Given the description of an element on the screen output the (x, y) to click on. 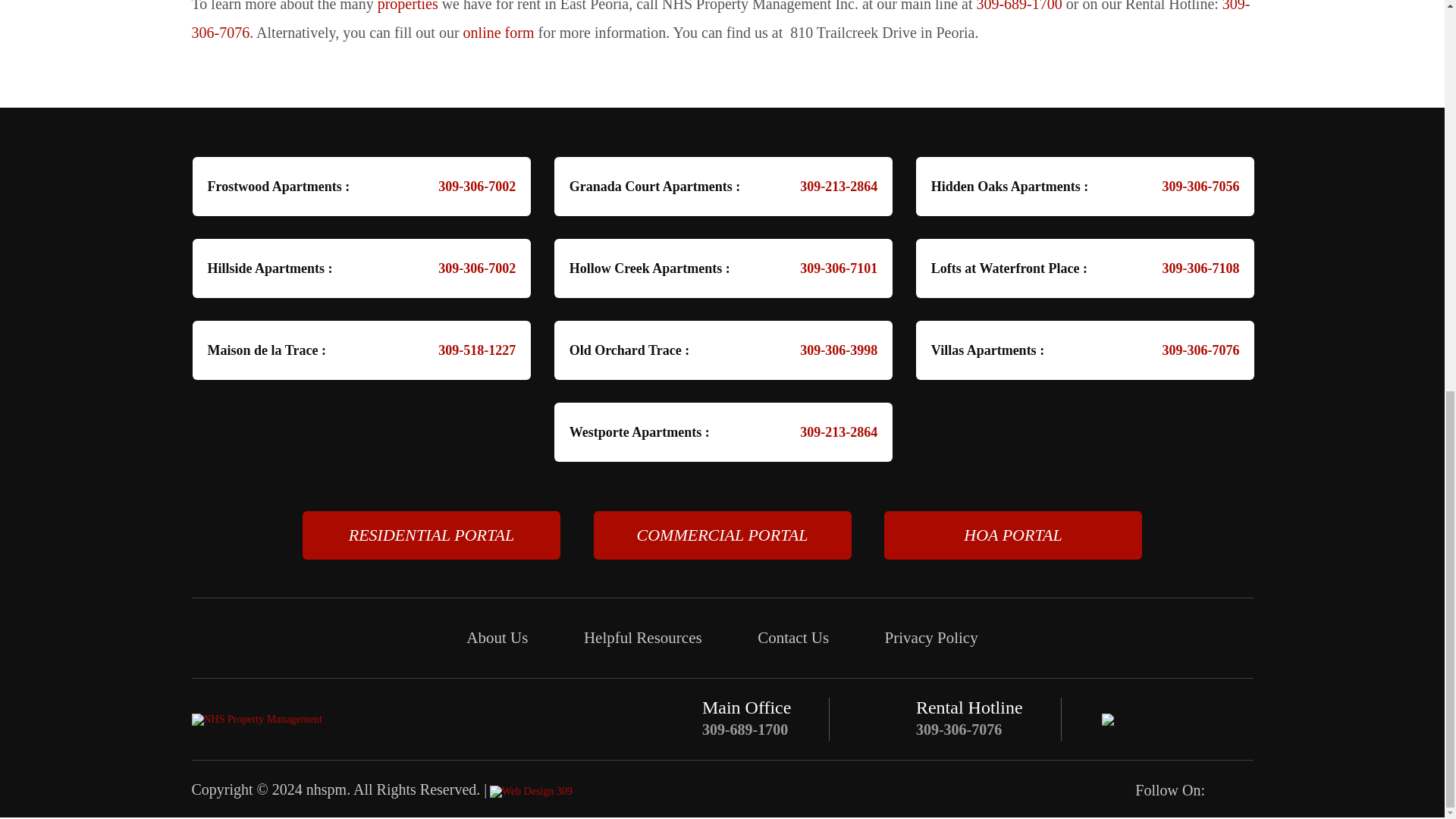
309-213-2864 (828, 185)
309-213-2864 (828, 431)
309-306-7101 (828, 267)
Privacy Policy (931, 637)
309-306-7056 (1190, 185)
Contact Us (792, 637)
309-306-7108 (1190, 267)
HOA PORTAL (1012, 535)
Helpful Resources (642, 637)
About Us (496, 637)
